Given the description of an element on the screen output the (x, y) to click on. 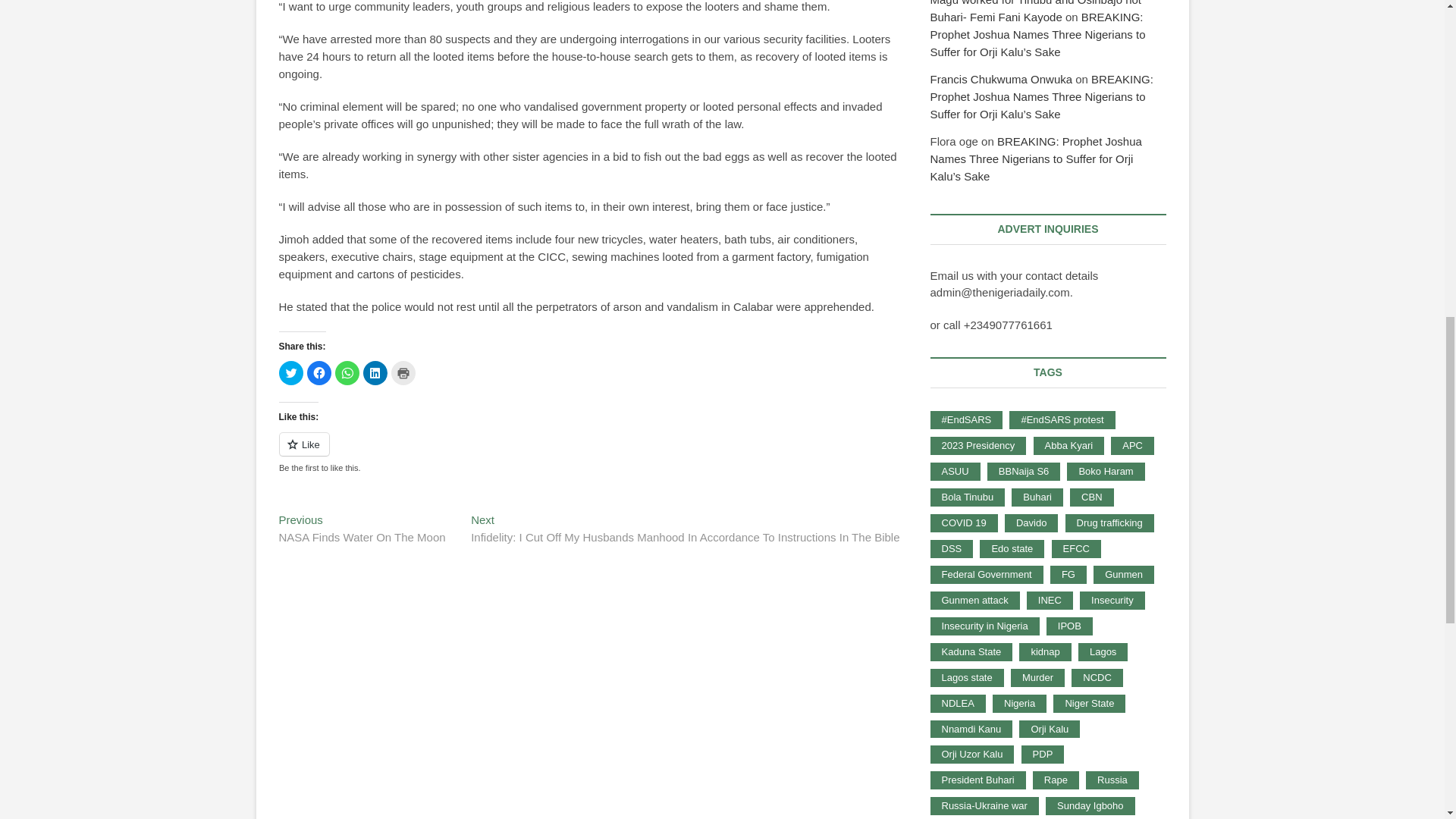
Click to share on Twitter (290, 372)
Click to share on WhatsApp (346, 372)
Click to share on LinkedIn (374, 372)
Click to print (402, 372)
Click to share on Facebook (317, 372)
Like or Reblog (362, 530)
